Given the description of an element on the screen output the (x, y) to click on. 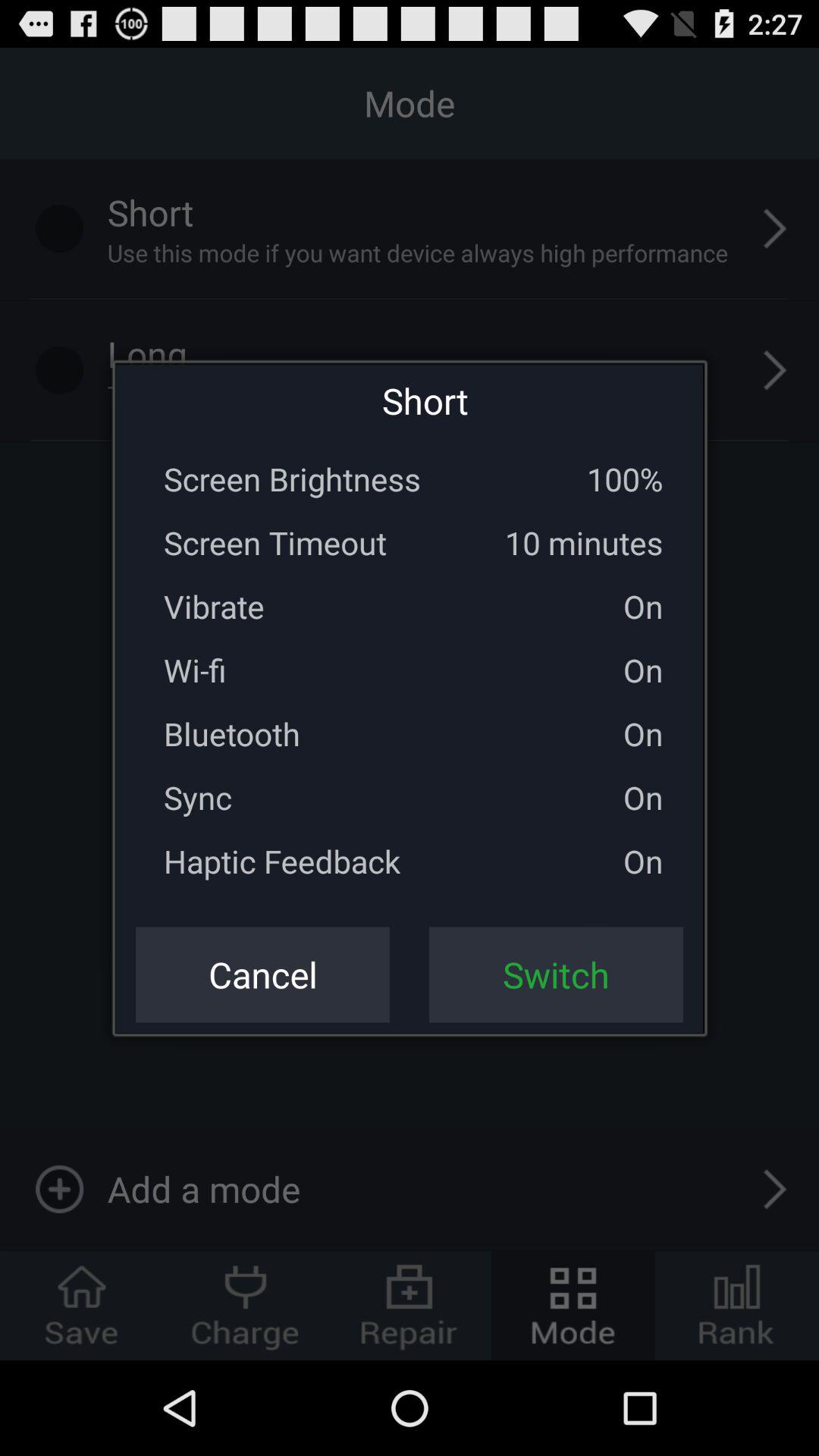
launch the icon to the left of switch icon (262, 974)
